Given the description of an element on the screen output the (x, y) to click on. 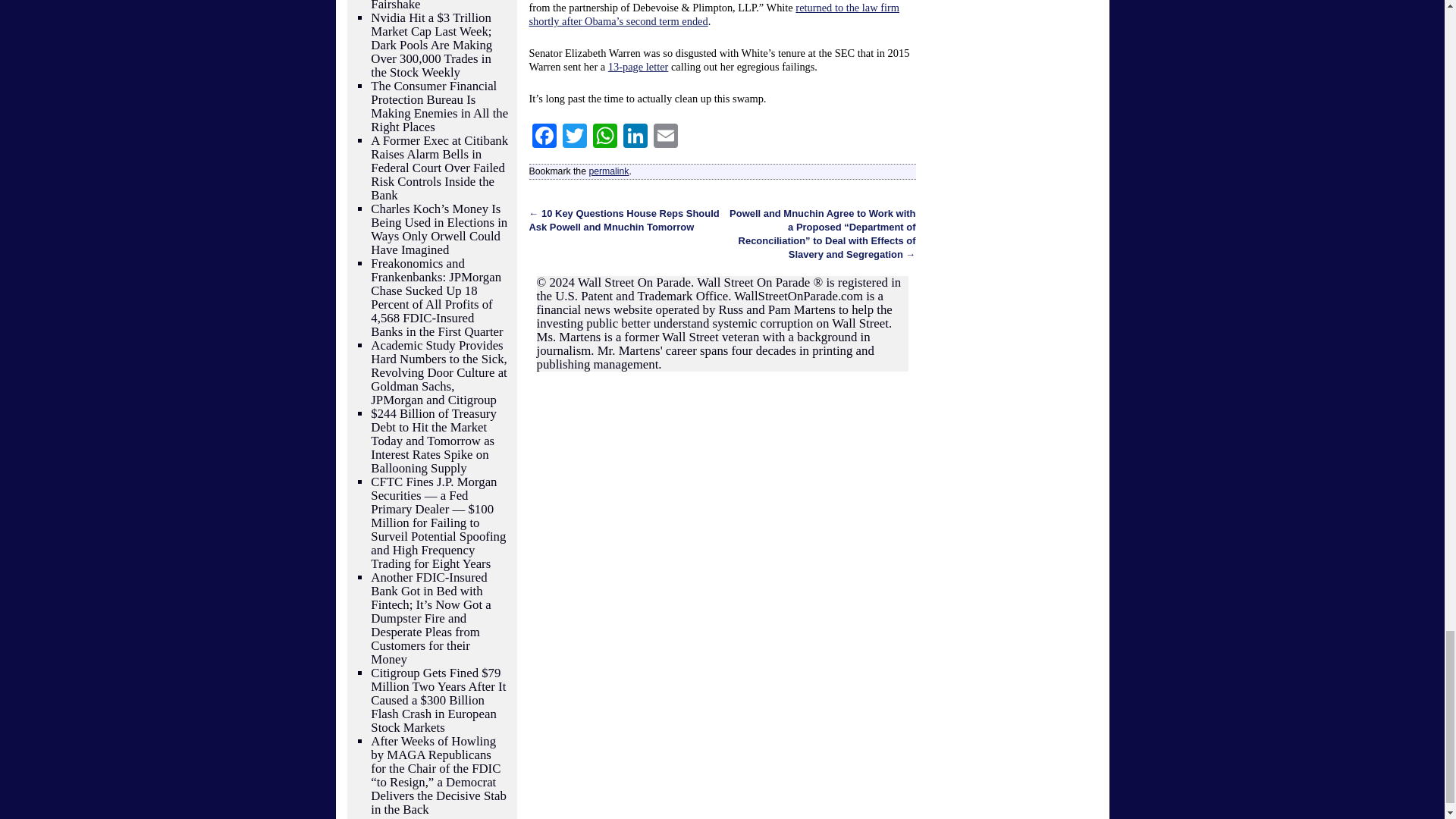
WhatsApp (604, 137)
Email (665, 137)
Twitter (574, 137)
Facebook (544, 137)
LinkedIn (635, 137)
permalink (608, 171)
13-page letter (638, 66)
Facebook (544, 137)
WhatsApp (604, 137)
Email (665, 137)
